Given the description of an element on the screen output the (x, y) to click on. 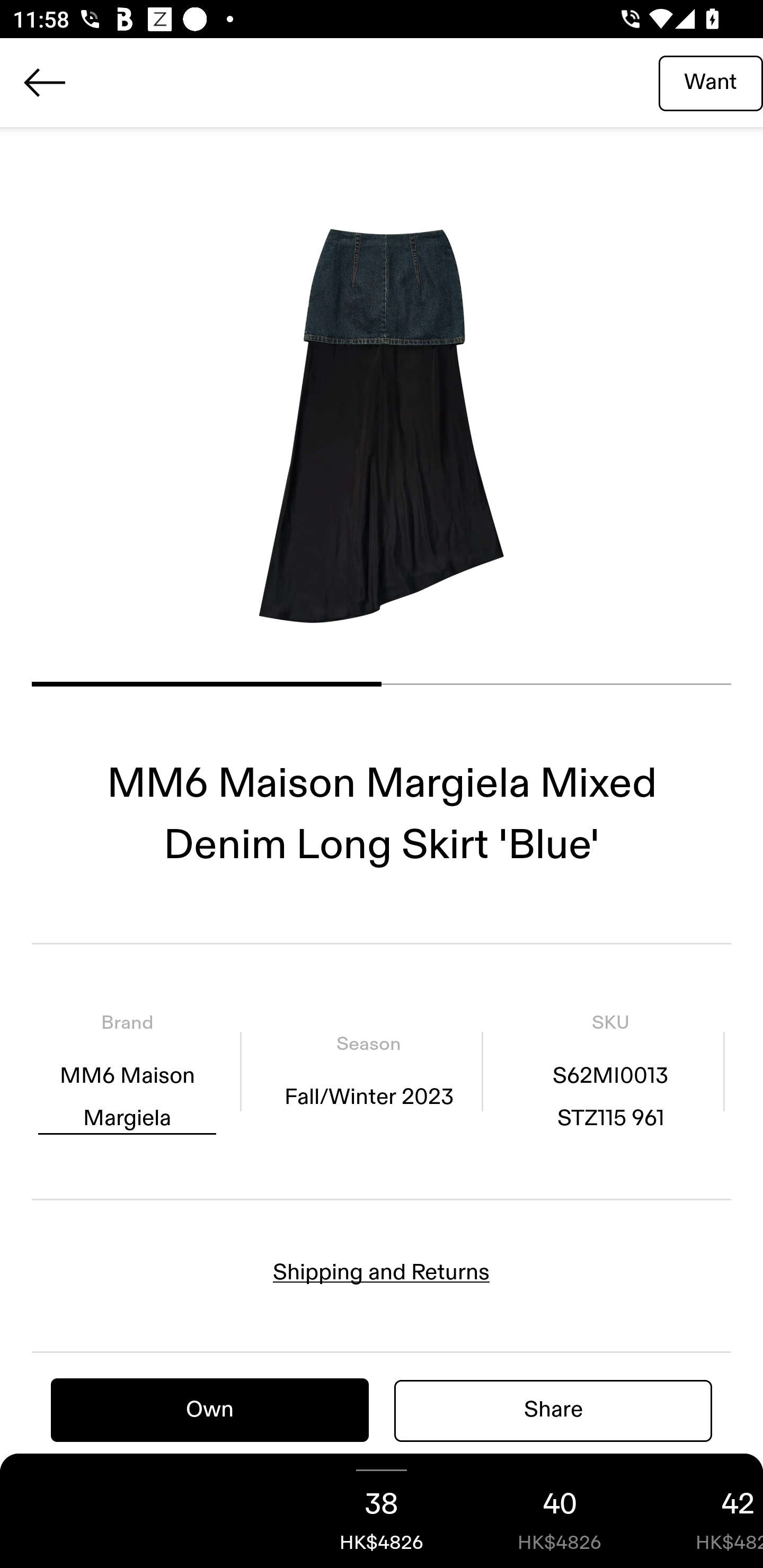
Want (710, 82)
Brand MM6 Maison Margiela (126, 1070)
Season Fall/Winter 2023 (368, 1070)
SKU S62MI0013 STZ115 961 (609, 1070)
Shipping and Returns (381, 1272)
Own (209, 1410)
Share (552, 1410)
38 HK$4826 (381, 1510)
40 HK$4826 (559, 1510)
42 HK$4826 (705, 1510)
